Given the description of an element on the screen output the (x, y) to click on. 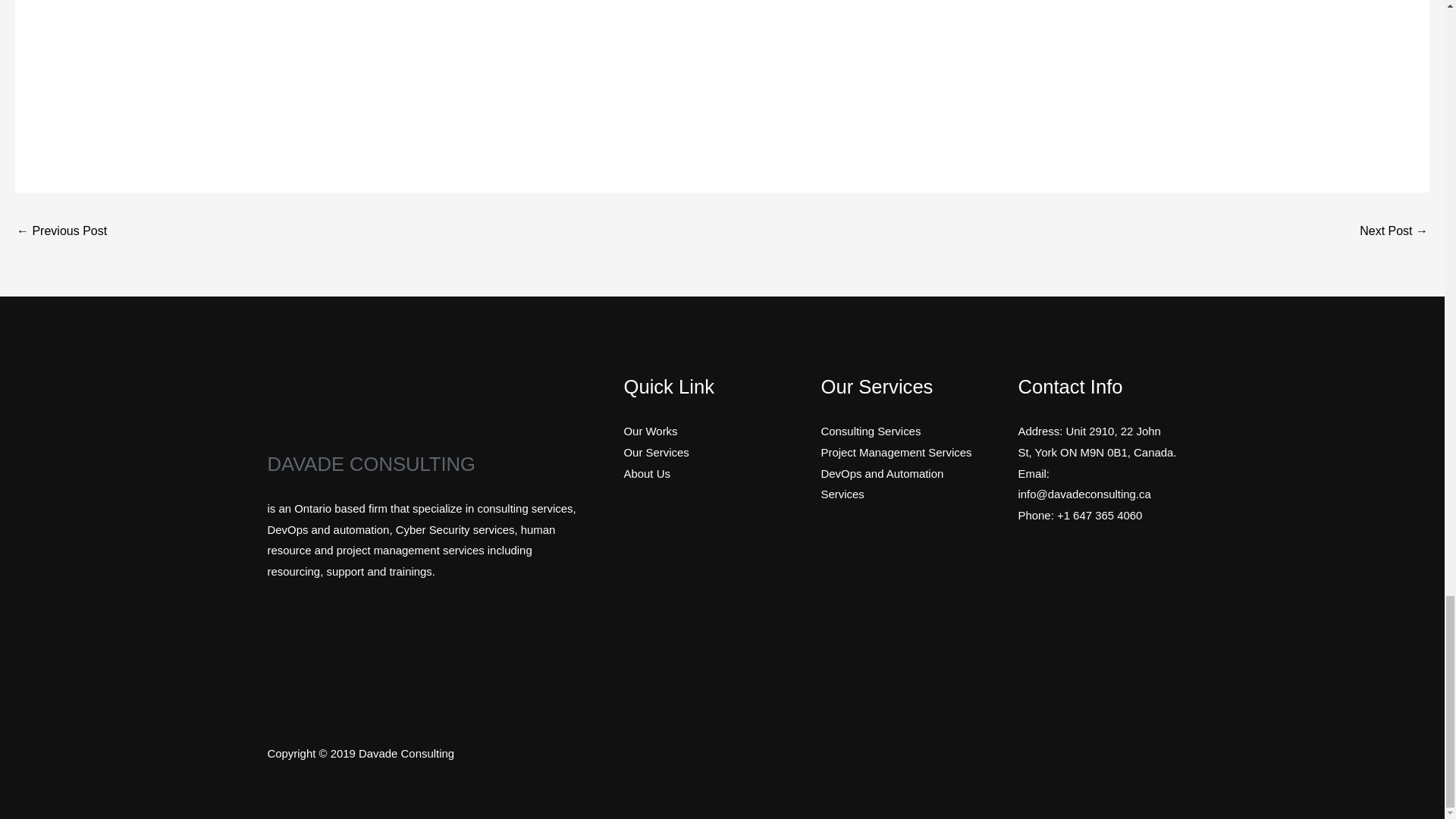
Our Services (655, 451)
Find your perfect match on our age gap dating site (1393, 232)
DevOps and Automation Services (882, 483)
Consulting Services (870, 431)
Our Works (650, 431)
Project Management Services (896, 451)
About Us (646, 472)
